Given the description of an element on the screen output the (x, y) to click on. 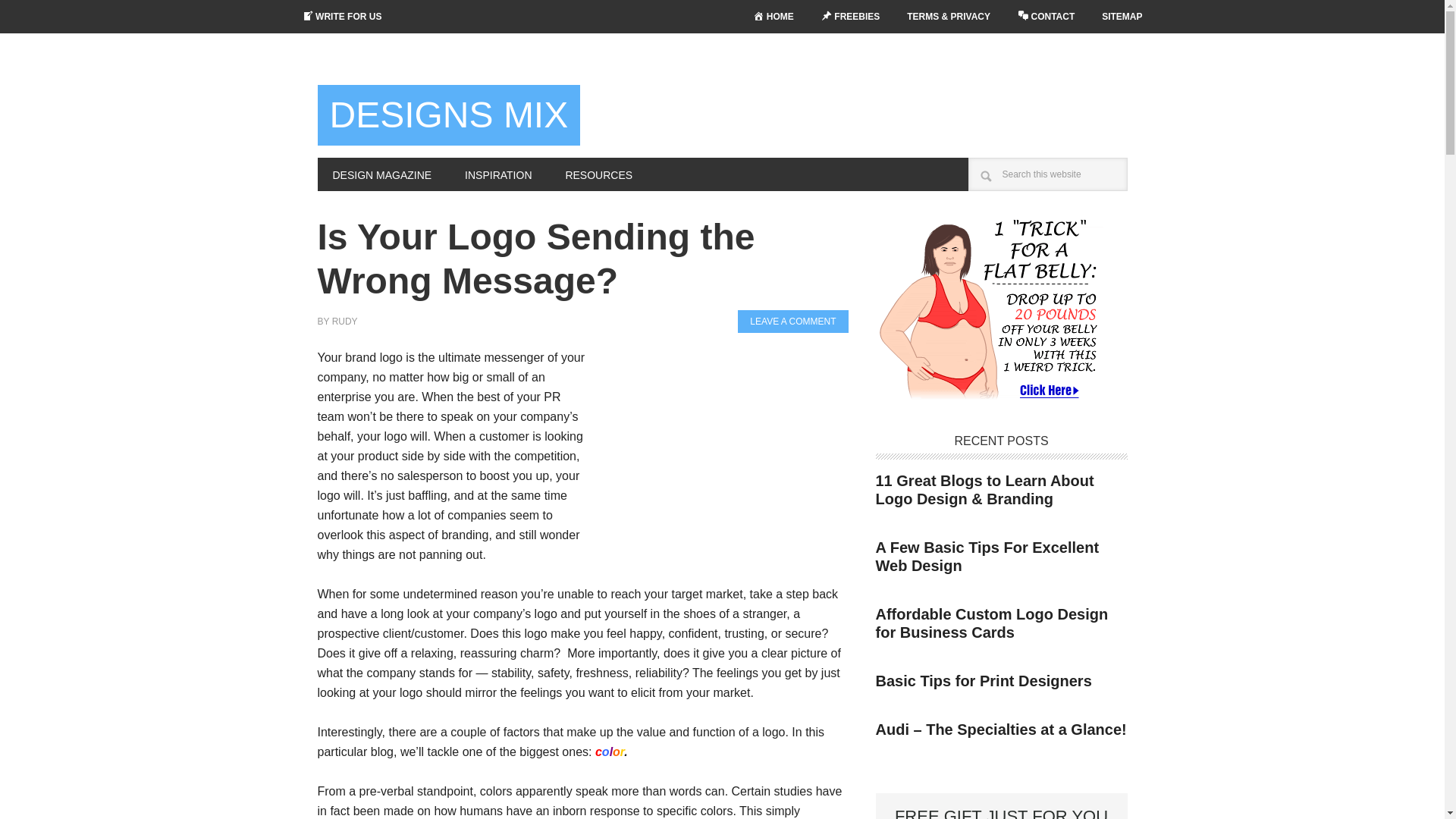
A Few Basic Tips For Excellent Web Design (987, 555)
Affordable Custom Logo Design for Business Cards (991, 622)
FREEBIES (850, 16)
CONTACT (1046, 16)
SITEMAP (1121, 16)
HOME (773, 16)
LEAVE A COMMENT (792, 321)
RUDY (344, 321)
